Given the description of an element on the screen output the (x, y) to click on. 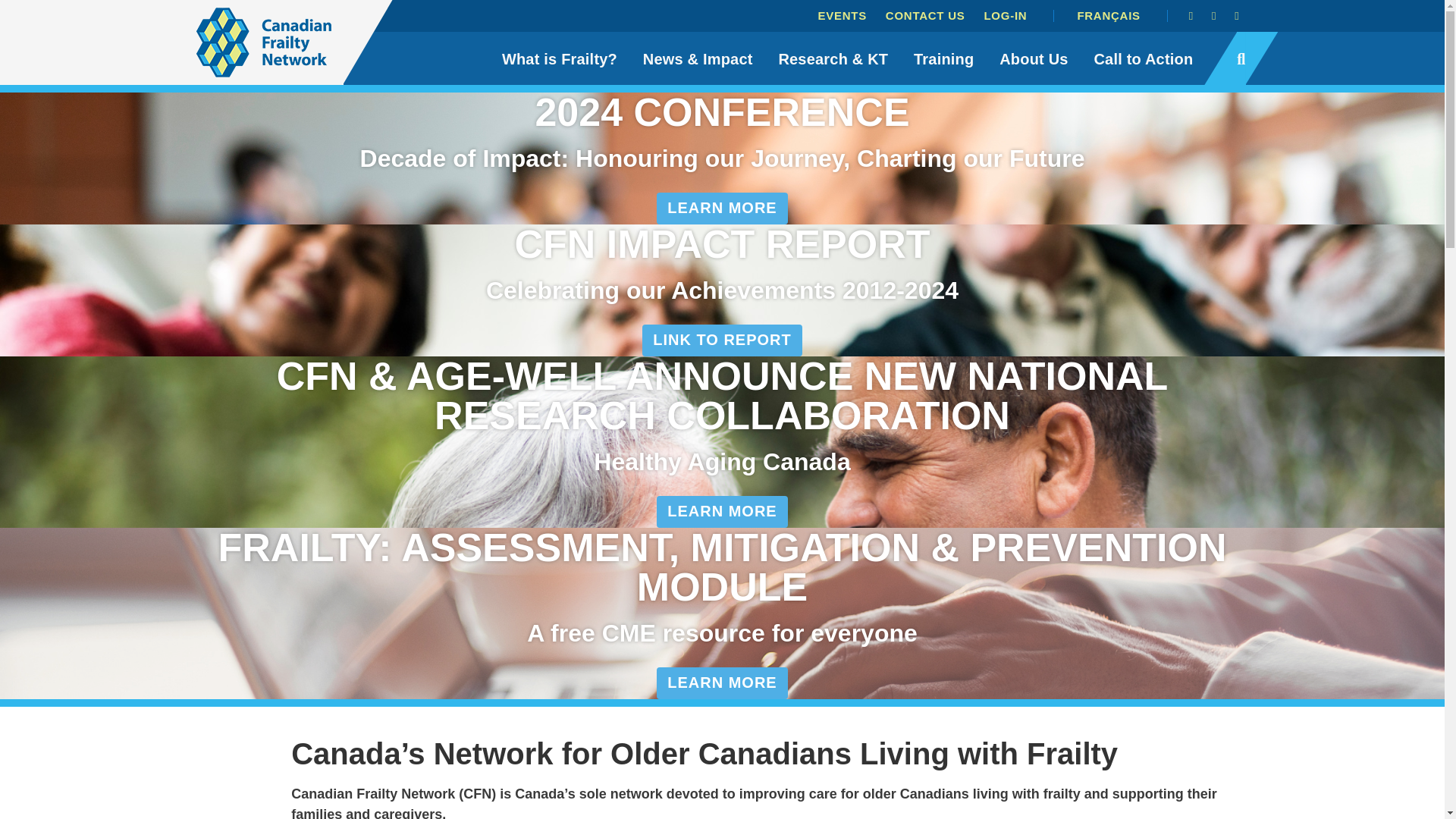
EVENTS (842, 15)
CONTACT US (924, 15)
About Us (1032, 58)
What is Frailty? (559, 58)
Training (944, 58)
LOG-IN (1004, 15)
